Given the description of an element on the screen output the (x, y) to click on. 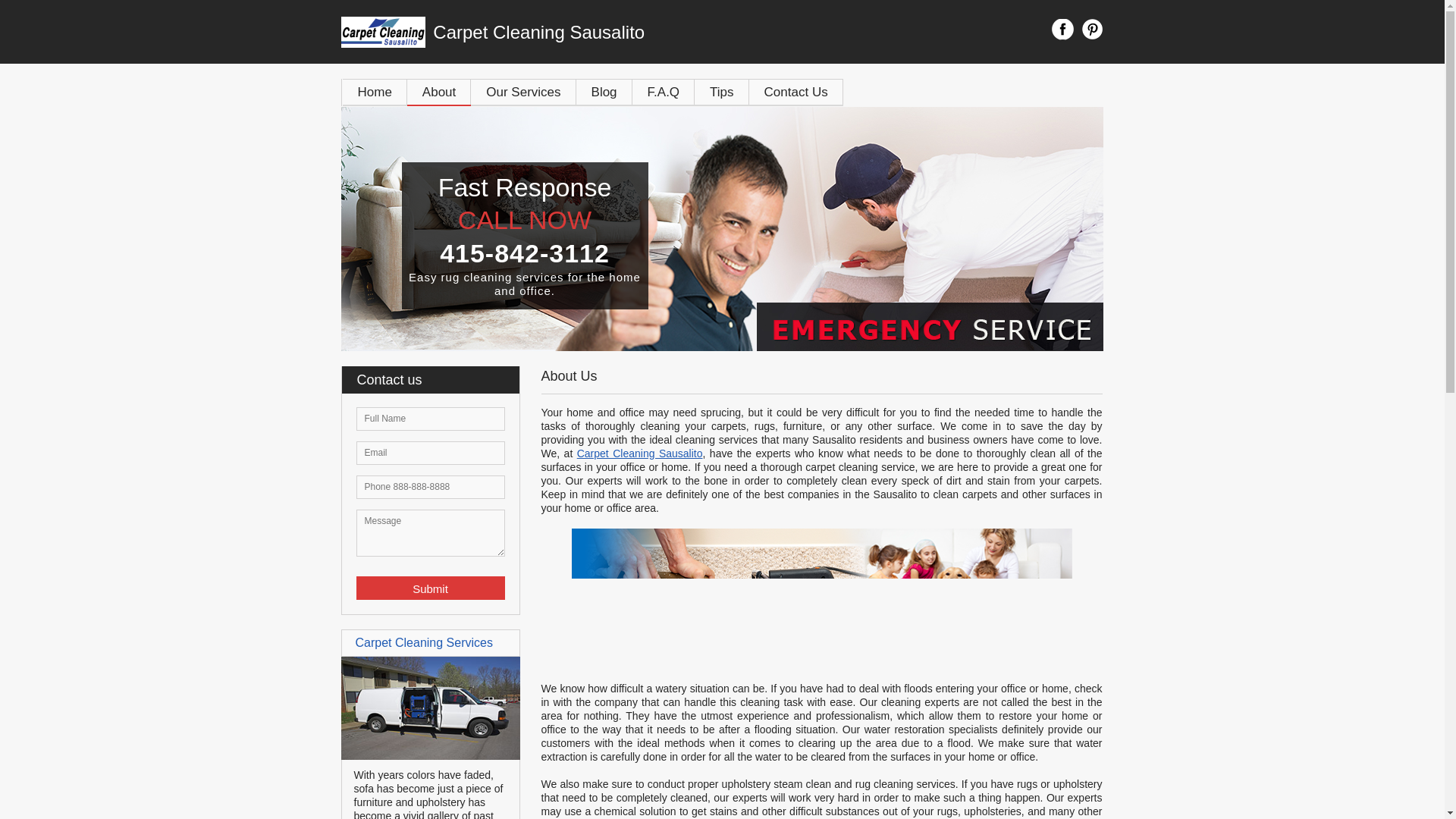
Twitter (1092, 29)
Contact Us (796, 91)
Submit (430, 587)
Submit (430, 587)
Blog (603, 91)
Home (374, 91)
Facebook (1062, 29)
Carpet Cleaning Sausalito (639, 453)
Our Services (522, 91)
Carpet Cleaning Sausalito (606, 32)
